Given the description of an element on the screen output the (x, y) to click on. 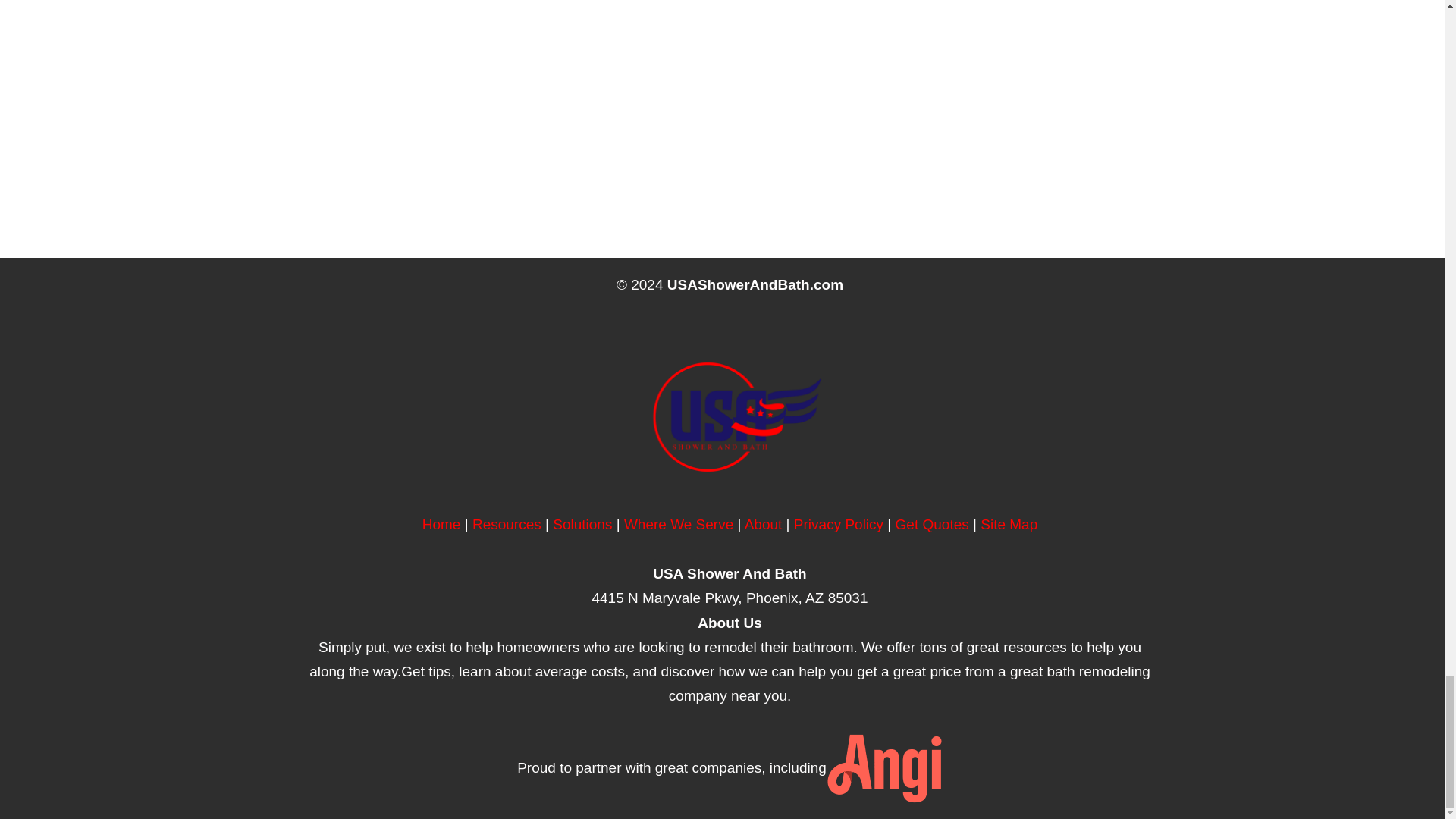
Get Quotes (932, 524)
Where We Serve (678, 524)
Resources (506, 524)
USA Shower And bath (441, 524)
Solutions (582, 524)
Privacy Policy (838, 524)
About (763, 524)
Site Map (1007, 524)
